Given the description of an element on the screen output the (x, y) to click on. 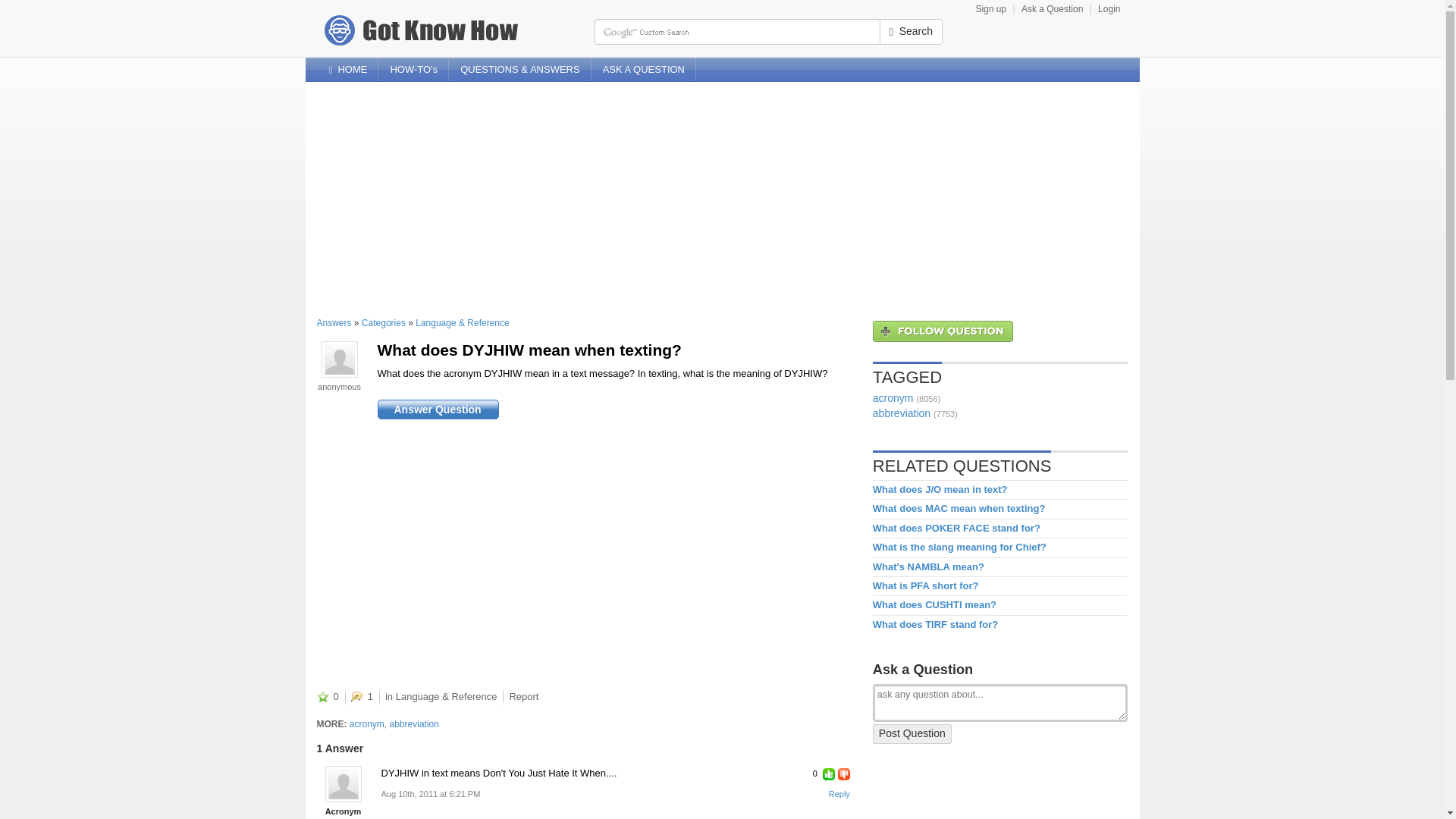
 Search (910, 31)
Answers (361, 696)
1 (361, 696)
Acronym (342, 784)
This answer is useful (828, 774)
anonymous (339, 386)
Advertisement (986, 792)
 HOME (347, 69)
Follow Question (942, 331)
abbreviation (414, 724)
Twitter Profile (1127, 62)
Facebook Page (1104, 62)
Sign up (990, 9)
Advertisement (444, 550)
